Given the description of an element on the screen output the (x, y) to click on. 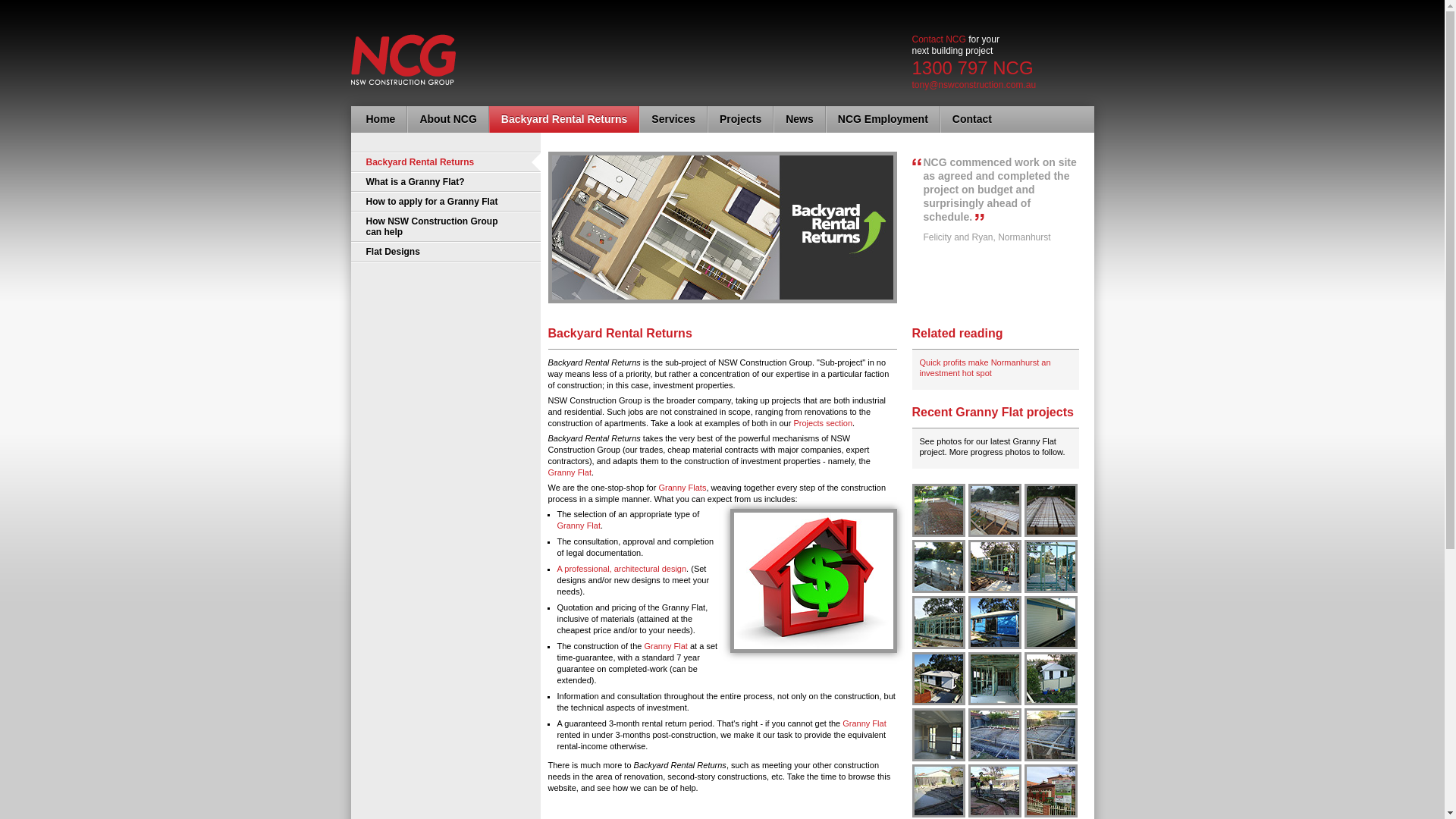
tony@nswconstruction.com.au Element type: text (973, 84)
Backyard Rental Returns build in Willoughby Element type: hover (1050, 756)
News Element type: text (799, 119)
How NSW Construction Group
can help Element type: text (444, 226)
What is a Granny Flat? Element type: text (444, 181)
Granny Flat Element type: text (568, 471)
Projects Element type: text (740, 119)
Granny Flat Element type: text (577, 525)
Quick profits make Normanhurst an investment hot spot Element type: text (984, 367)
Home Element type: text (380, 119)
A professional, architectural design Element type: text (621, 568)
Granny Flat Element type: text (665, 645)
Projects section Element type: text (822, 422)
Backyard Rental Returns build in Willoughby Element type: hover (994, 756)
NCG Employment Element type: text (882, 119)
Granny Flats Element type: text (682, 487)
Contact Element type: text (971, 119)
How to apply for a Granny Flat Element type: text (444, 201)
Backyard Rental Returns Element type: text (564, 119)
Granny Flat Element type: text (863, 723)
Flat Designs Element type: text (444, 251)
Contact NCG Element type: text (938, 39)
1300 797 NCG Element type: text (971, 67)
Services Element type: text (673, 119)
About NCG Element type: text (447, 119)
Backyard Rental Returns Element type: text (444, 162)
